Given the description of an element on the screen output the (x, y) to click on. 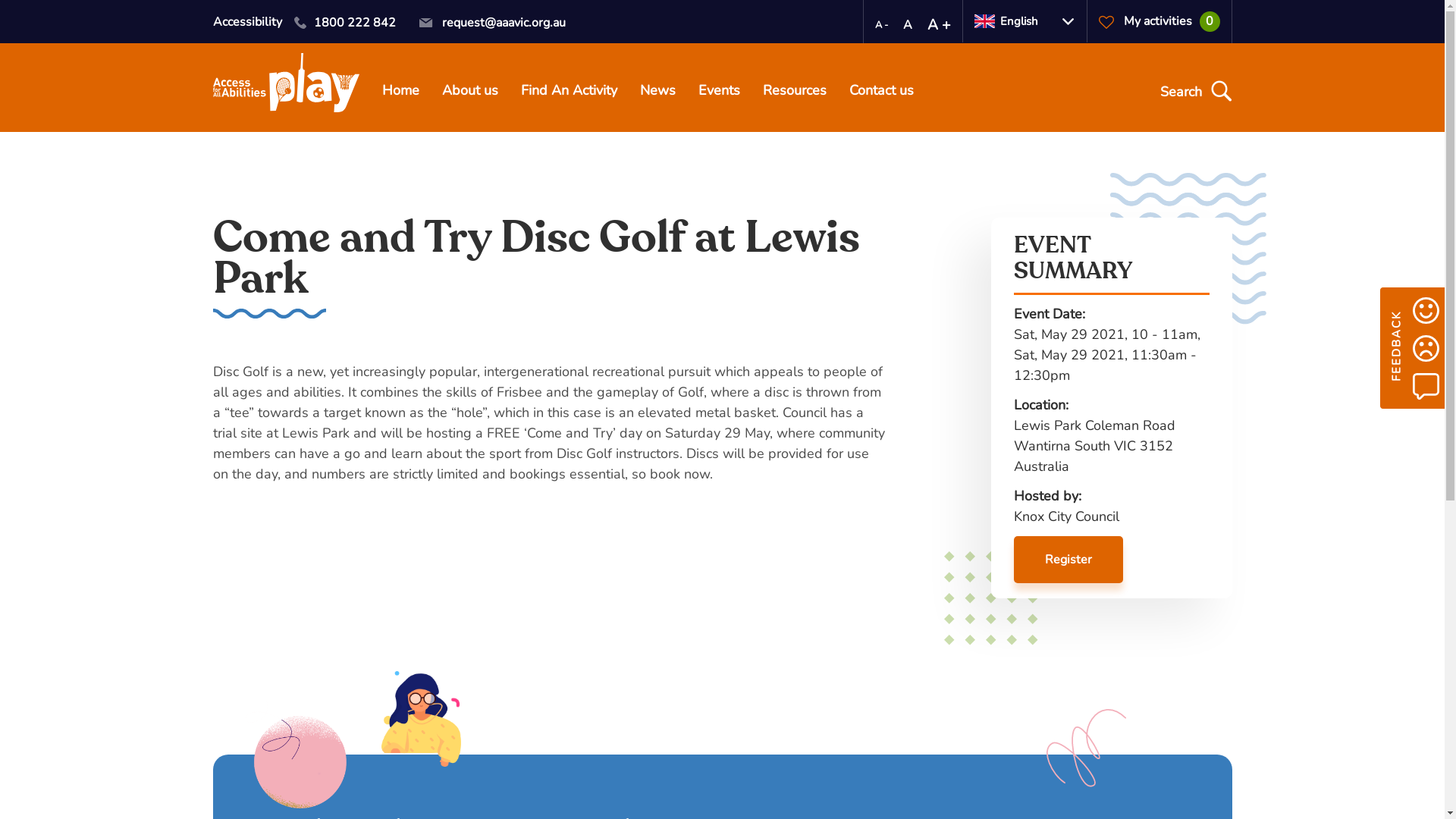
My activities0 Element type: text (1159, 21)
Give Complaint Element type: text (1425, 348)
Skip to main content Element type: text (0, 0)
Contact us Element type: text (881, 91)
About us Element type: text (469, 91)
request@aaavic.org.au Element type: text (491, 22)
Home Element type: text (400, 91)
1800 222 842 Element type: text (343, 22)
Search Element type: text (1193, 91)
Find An Activity Element type: text (568, 91)
Events Element type: text (718, 91)
News Element type: text (657, 91)
English Element type: text (1023, 21)
Give Compliment Element type: text (1425, 310)
Accessibility Element type: text (246, 21)
Resources Element type: text (794, 91)
Make Suggestion Element type: text (1425, 385)
Register Element type: text (1067, 559)
Search Element type: text (26, 11)
